Given the description of an element on the screen output the (x, y) to click on. 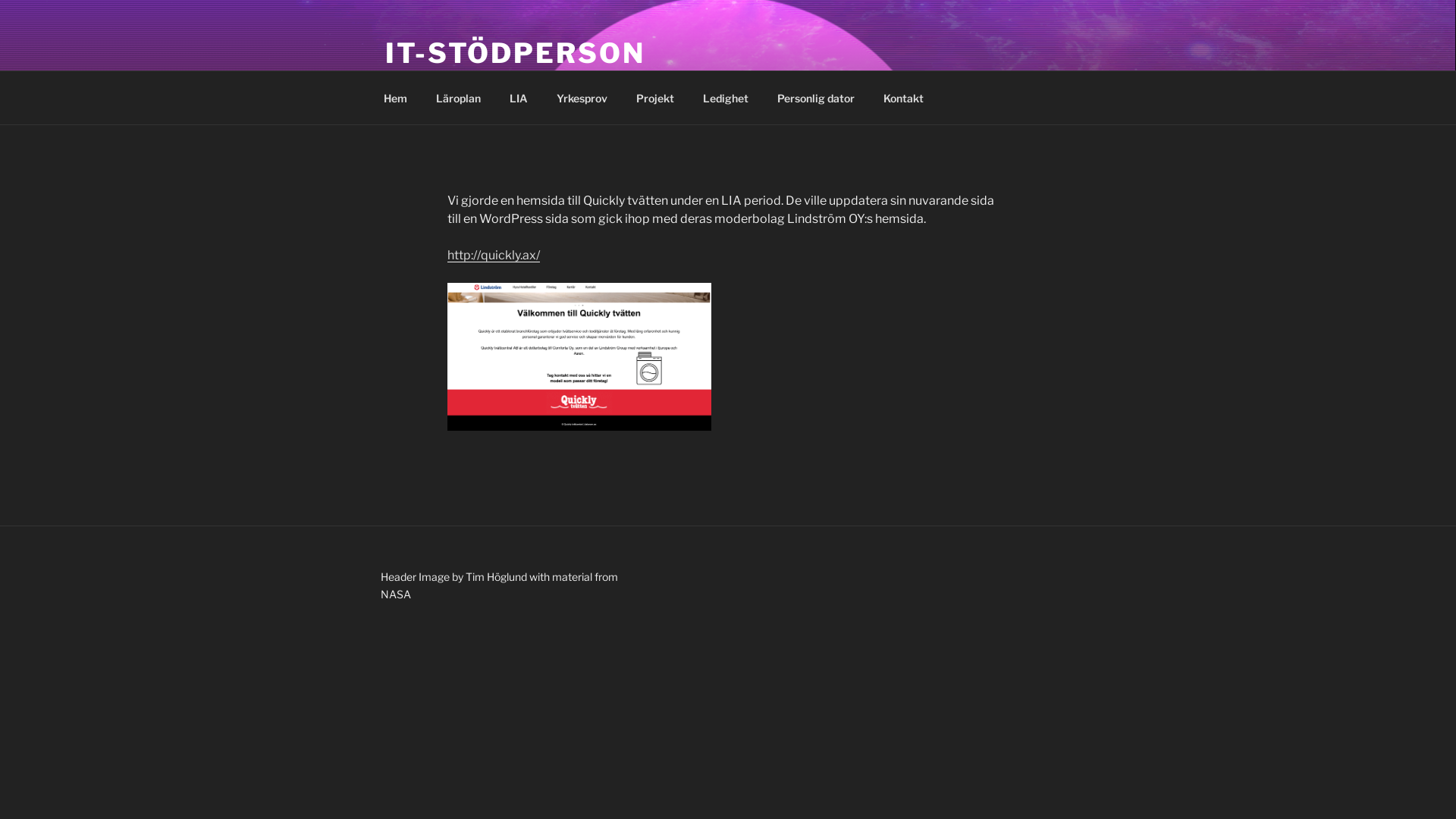
LIA Element type: text (517, 97)
Projekt Element type: text (654, 97)
Kontakt Element type: text (902, 97)
Hem Element type: text (395, 97)
Personlig dator Element type: text (815, 97)
Yrkesprov Element type: text (581, 97)
Ledighet Element type: text (725, 97)
http://quickly.ax/ Element type: text (493, 254)
